Given the description of an element on the screen output the (x, y) to click on. 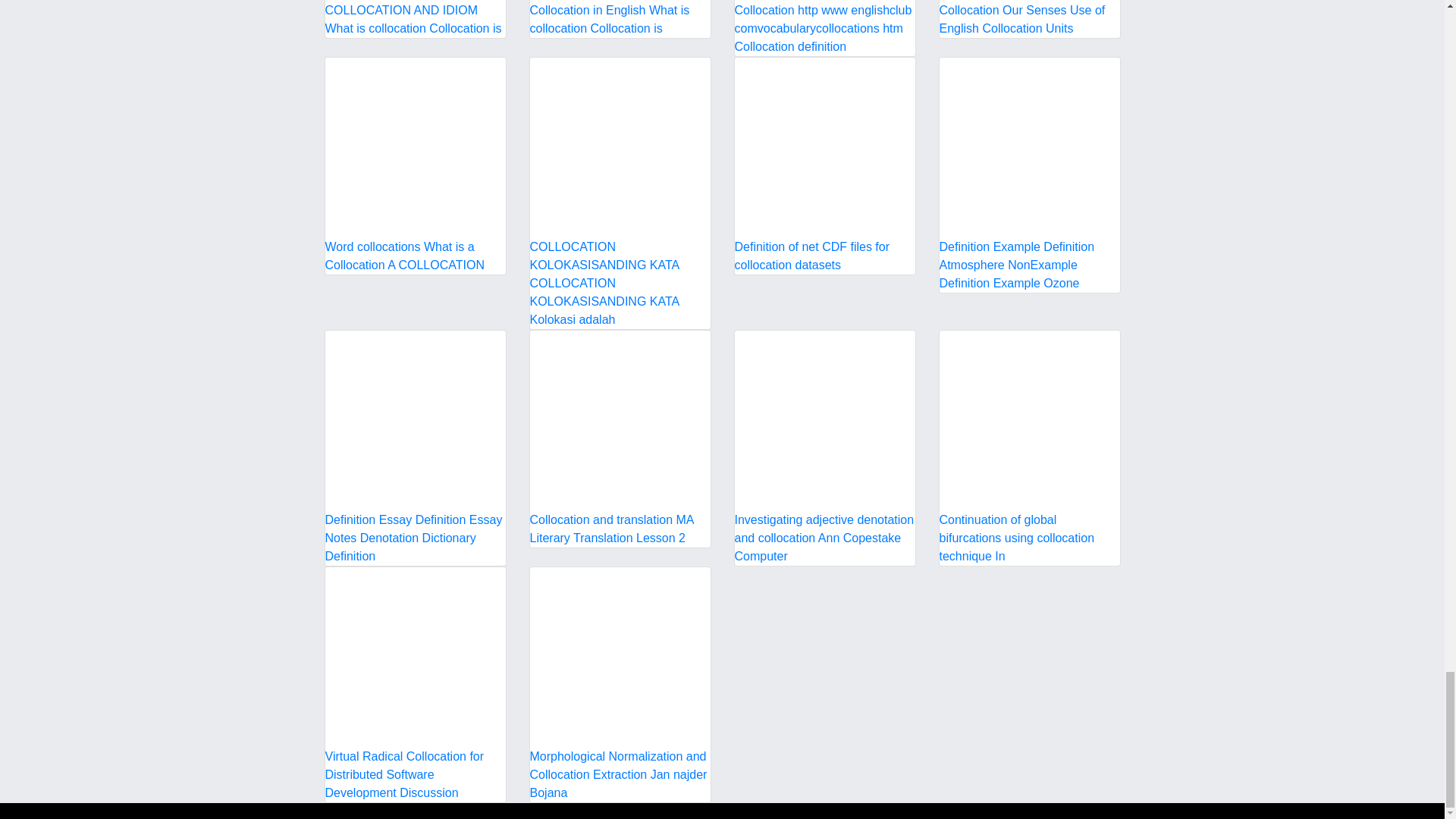
COLLOCATION AND IDIOM What is collocation Collocation is (414, 18)
Collocation Our Senses Use of English Collocation Units (1029, 18)
Collocation in English What is collocation Collocation is (619, 18)
